Given the description of an element on the screen output the (x, y) to click on. 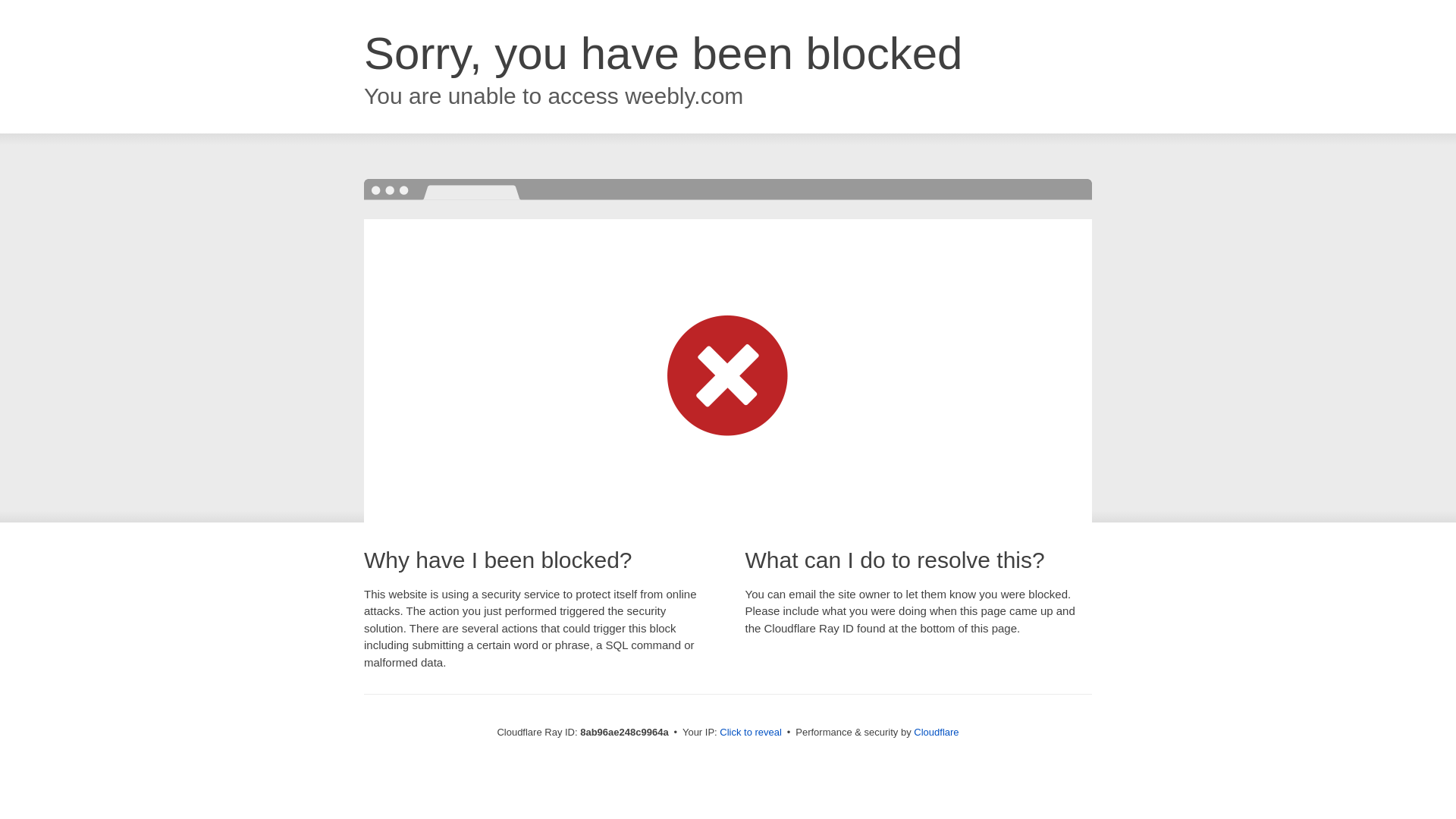
Cloudflare (936, 731)
Click to reveal (750, 732)
